Given the description of an element on the screen output the (x, y) to click on. 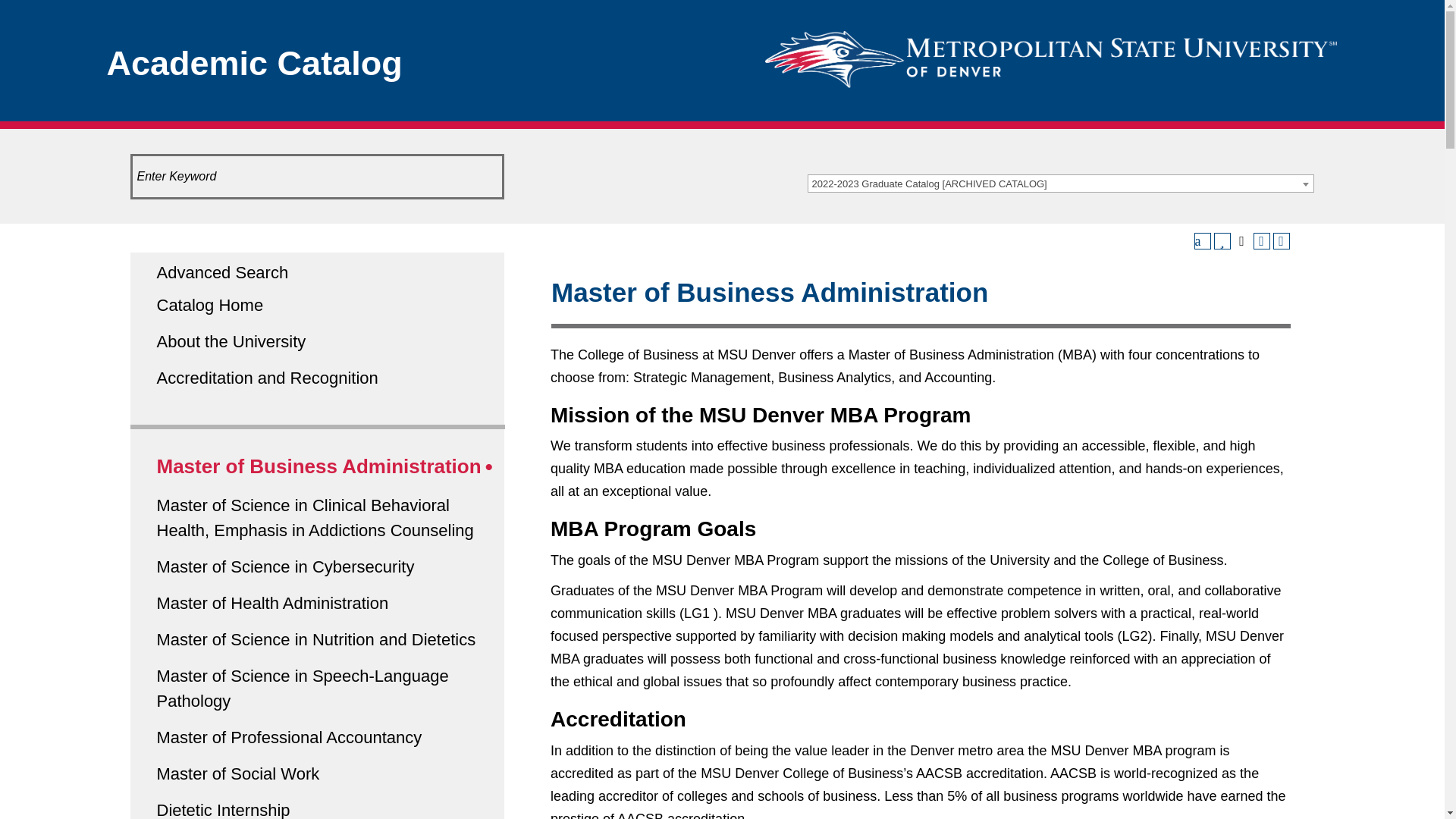
GO (20, 15)
Accreditation and Recognition (266, 377)
Advanced Search (221, 271)
Master of Science in Cybersecurity (284, 566)
About the University (230, 341)
Master of Professional Accountancy (288, 737)
Search Keyword Field, required (318, 176)
Dietetic Internship (222, 809)
Catalog Home (209, 304)
Master of Business Administration (317, 466)
Select a Catalog (1059, 183)
Master of Science in Nutrition and Dietetics (315, 639)
Master of Science in Speech-Language Pathology (301, 688)
